Given the description of an element on the screen output the (x, y) to click on. 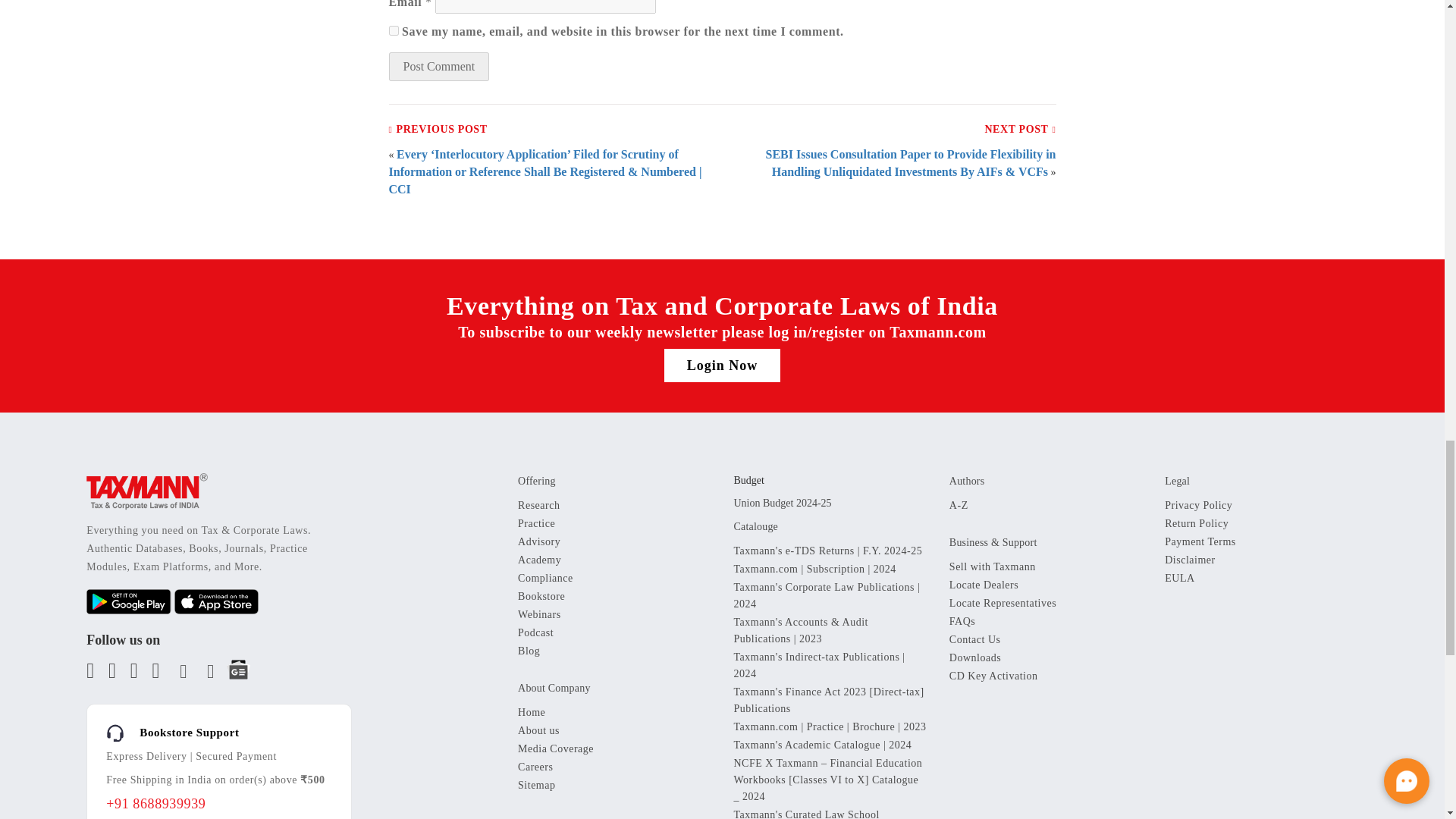
Telegram (207, 674)
Instagram (179, 674)
yes (392, 30)
Post Comment (438, 66)
